Given the description of an element on the screen output the (x, y) to click on. 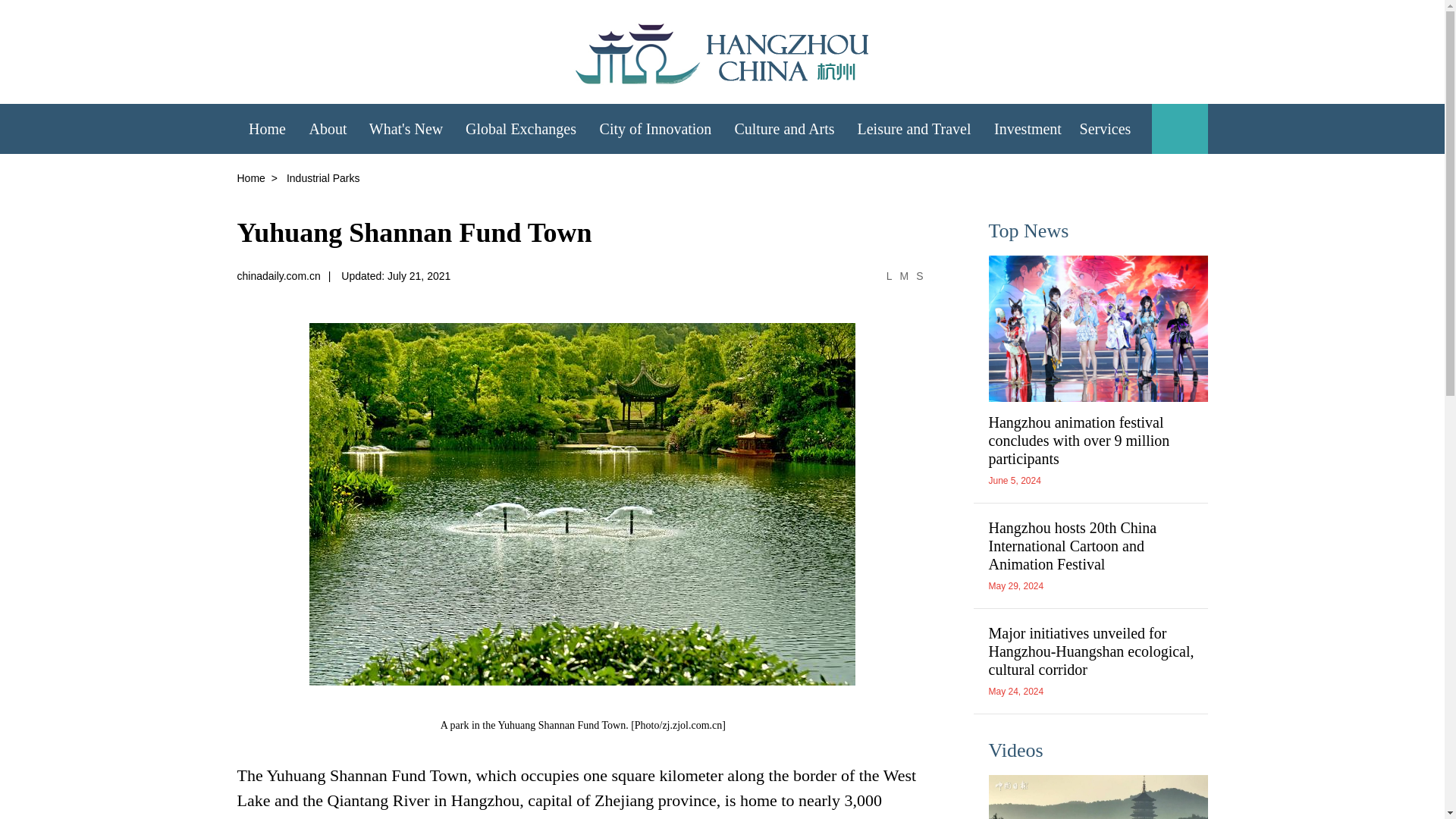
About (327, 127)
Home (266, 127)
Global Exchanges (520, 127)
What's New (405, 127)
City of Innovation (655, 127)
Leisure and Travel (913, 127)
Culture and Arts (784, 127)
